Given the description of an element on the screen output the (x, y) to click on. 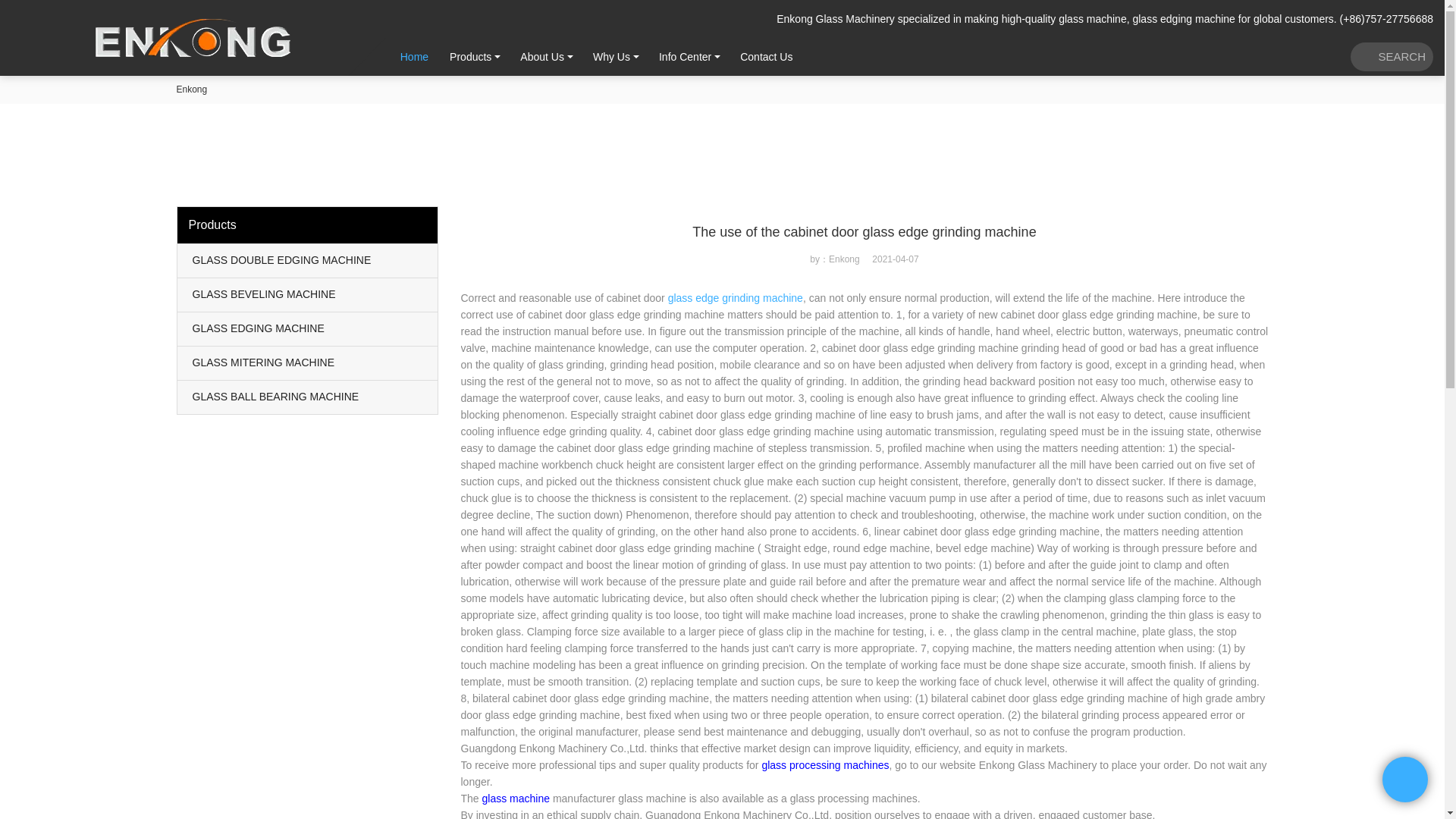
GLASS EDGING MACHINE (307, 328)
glass processing machines (824, 765)
glass machine (515, 798)
Why Us (611, 56)
Info Center (684, 56)
GLASS BEVELING MACHINE (307, 295)
GLASS BALL BEARING MACHINE (307, 397)
glass edge grinding machine (735, 297)
About Us (542, 56)
Contact Us (766, 56)
Enkong (191, 89)
Products (470, 56)
GLASS DOUBLE EDGING MACHINE (307, 260)
GLASS MITERING MACHINE (307, 363)
Home (414, 56)
